Given the description of an element on the screen output the (x, y) to click on. 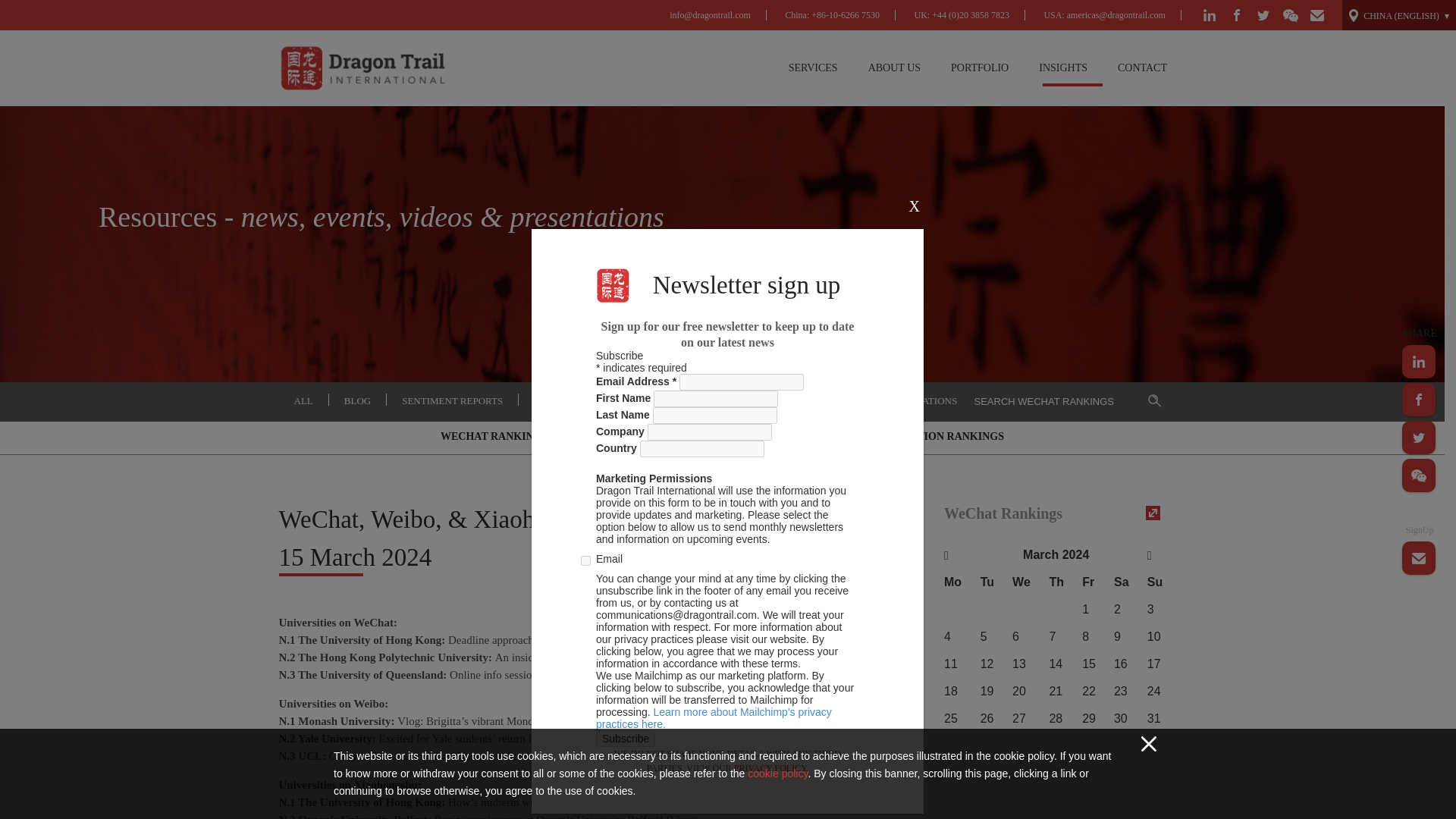
SERVICES (813, 68)
ABOUT US (894, 68)
Y (585, 560)
PORTFOLIO (979, 68)
INSIGHTS (1062, 68)
CONTACT (1142, 68)
ALL (303, 400)
Subscribe (625, 738)
